Given the description of an element on the screen output the (x, y) to click on. 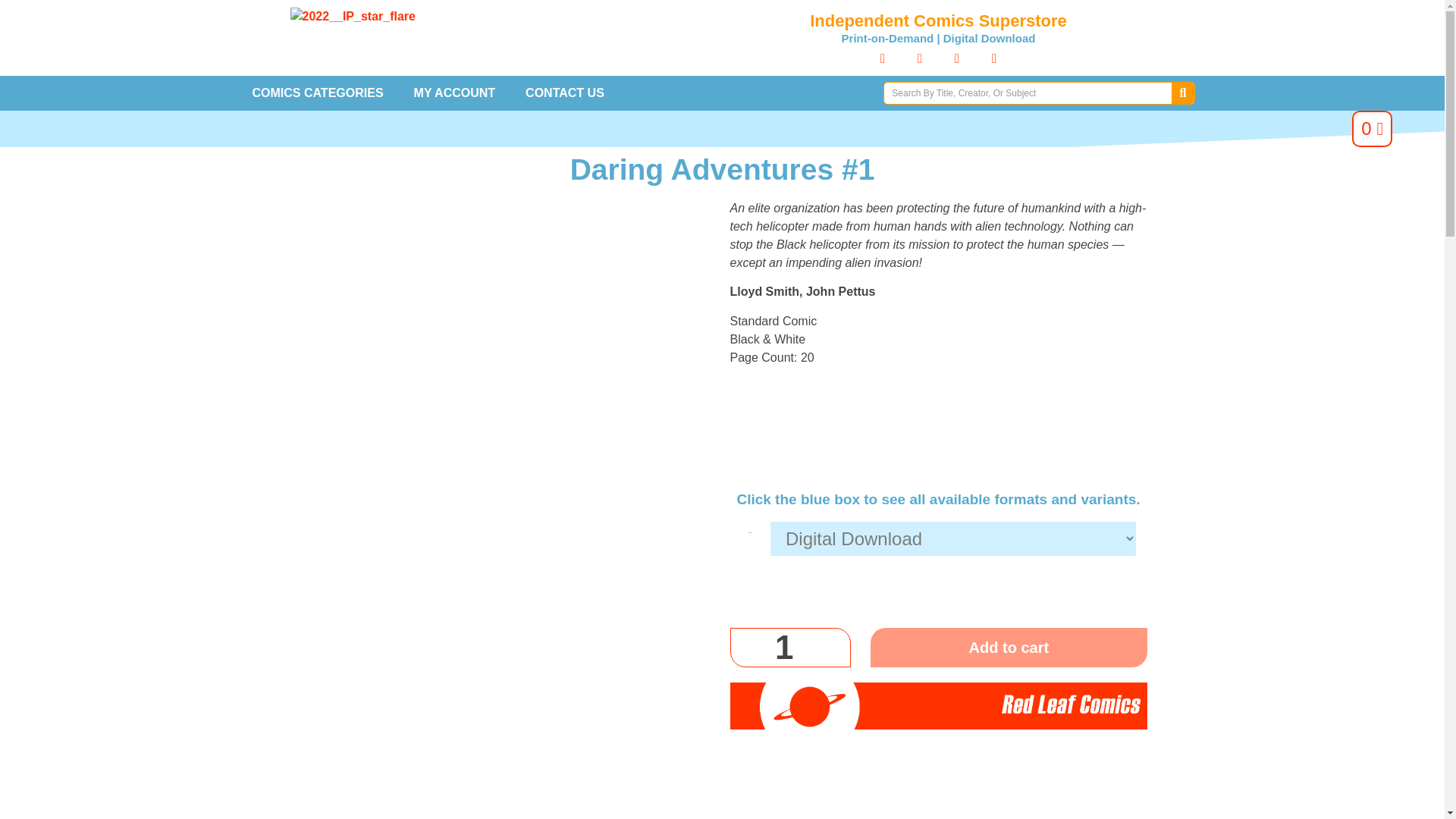
Add to cart (1008, 647)
MY ACCOUNT (454, 92)
COMICS CATEGORIES (316, 92)
1 (789, 647)
0 (1371, 128)
CONTACT US (565, 92)
